Given the description of an element on the screen output the (x, y) to click on. 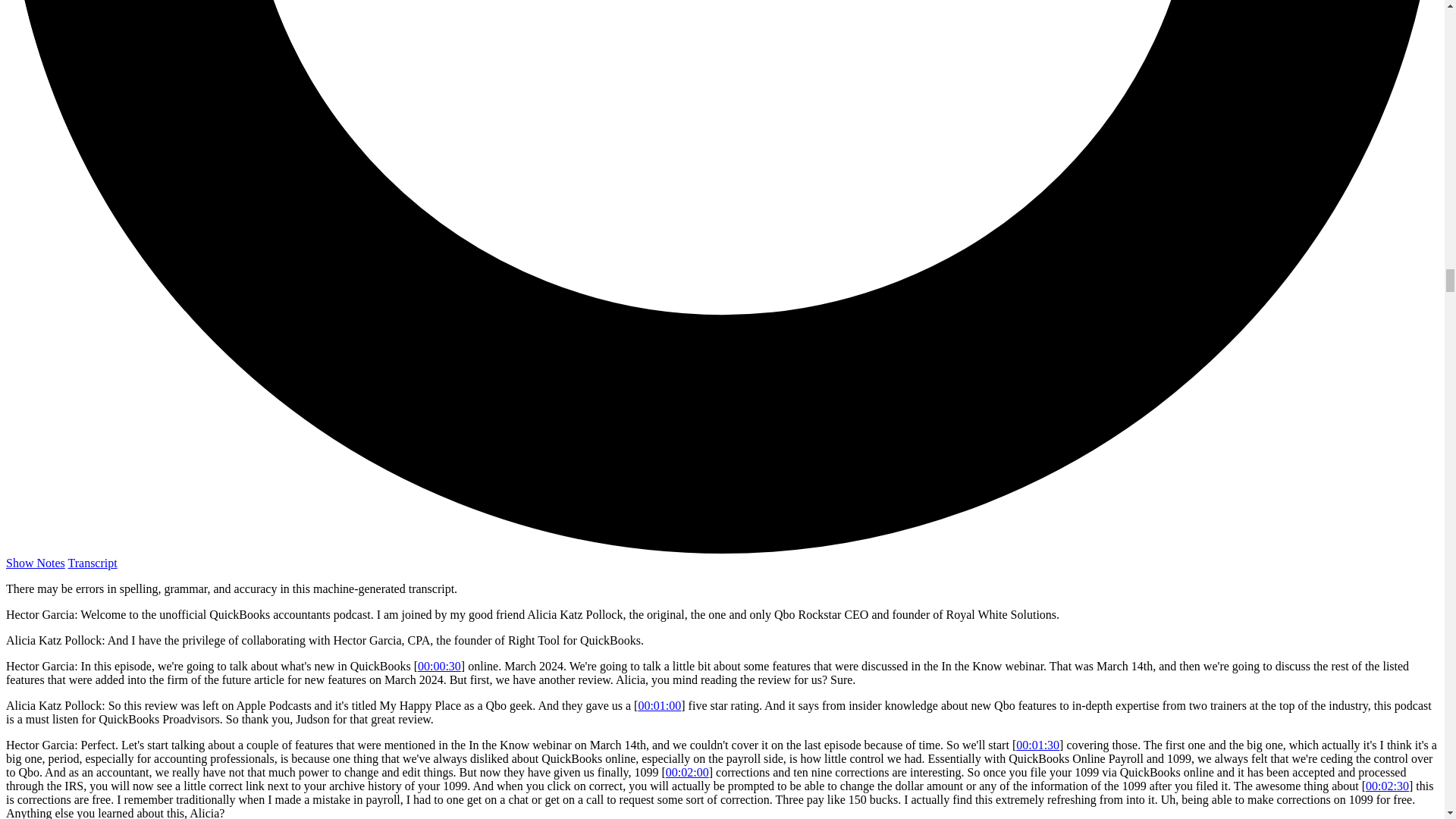
Transcript (92, 562)
View episode details (35, 562)
00:01:30 (1037, 744)
00:02:00 (687, 771)
Jump to 00:00:30 in this episode (439, 666)
View episode transcript (92, 562)
00:01:00 (659, 705)
00:02:30 (1387, 785)
Show Notes (35, 562)
00:00:30 (439, 666)
